Given the description of an element on the screen output the (x, y) to click on. 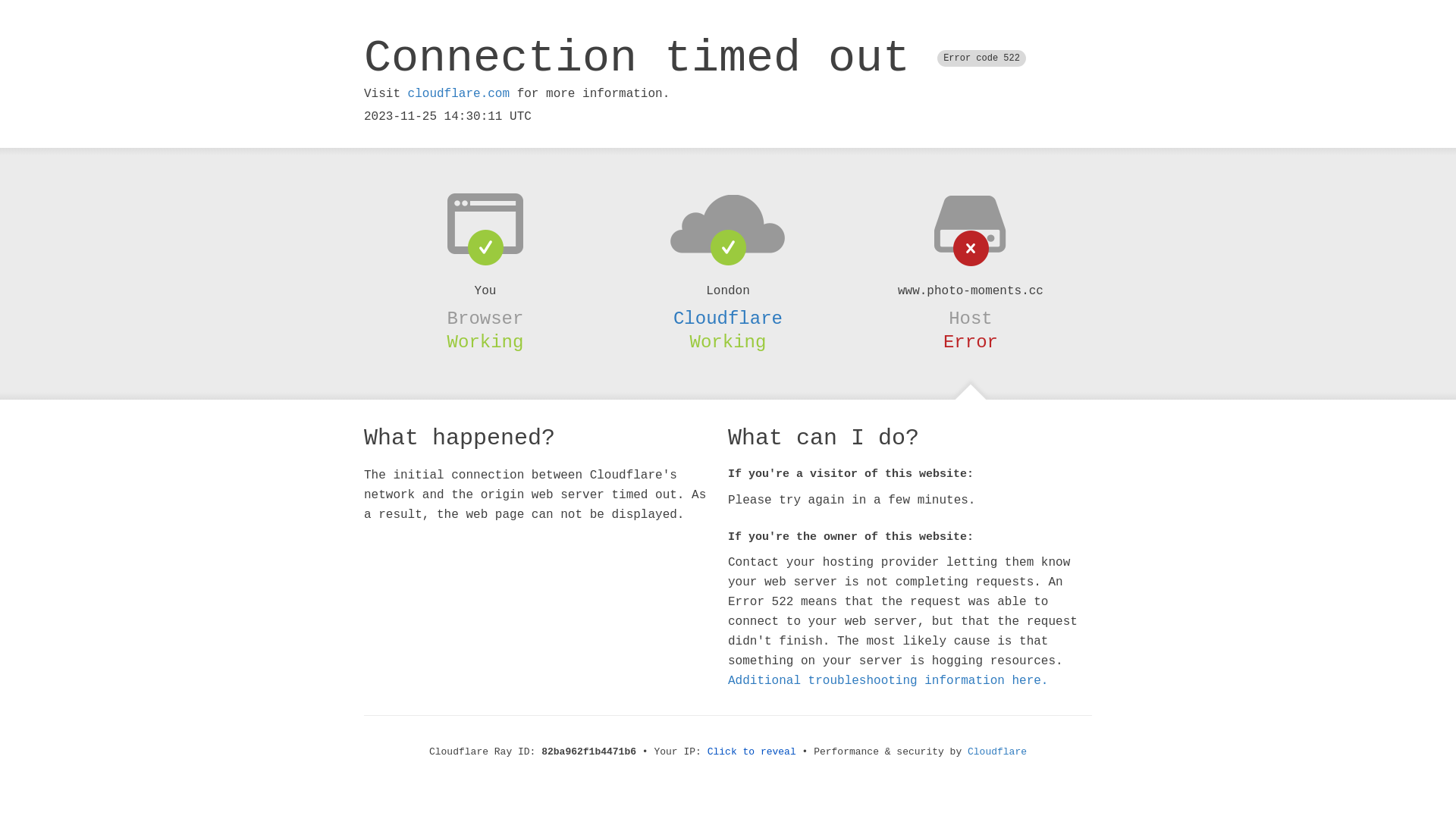
Click to reveal Element type: text (751, 751)
Additional troubleshooting information here. Element type: text (888, 680)
Cloudflare Element type: text (727, 318)
Cloudflare Element type: text (996, 751)
cloudflare.com Element type: text (458, 93)
